Given the description of an element on the screen output the (x, y) to click on. 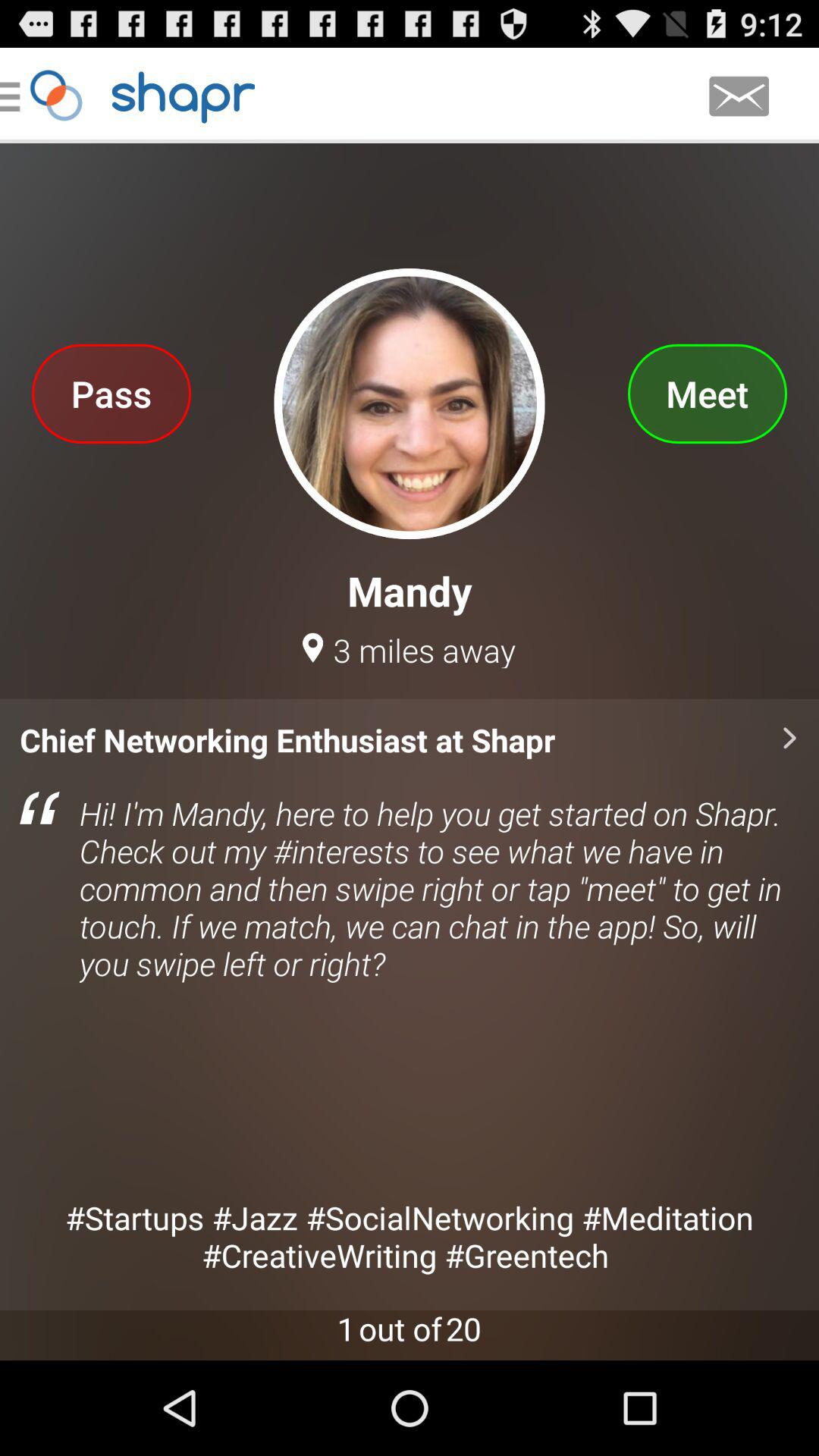
click icon below 3 miles away app (409, 1004)
